Given the description of an element on the screen output the (x, y) to click on. 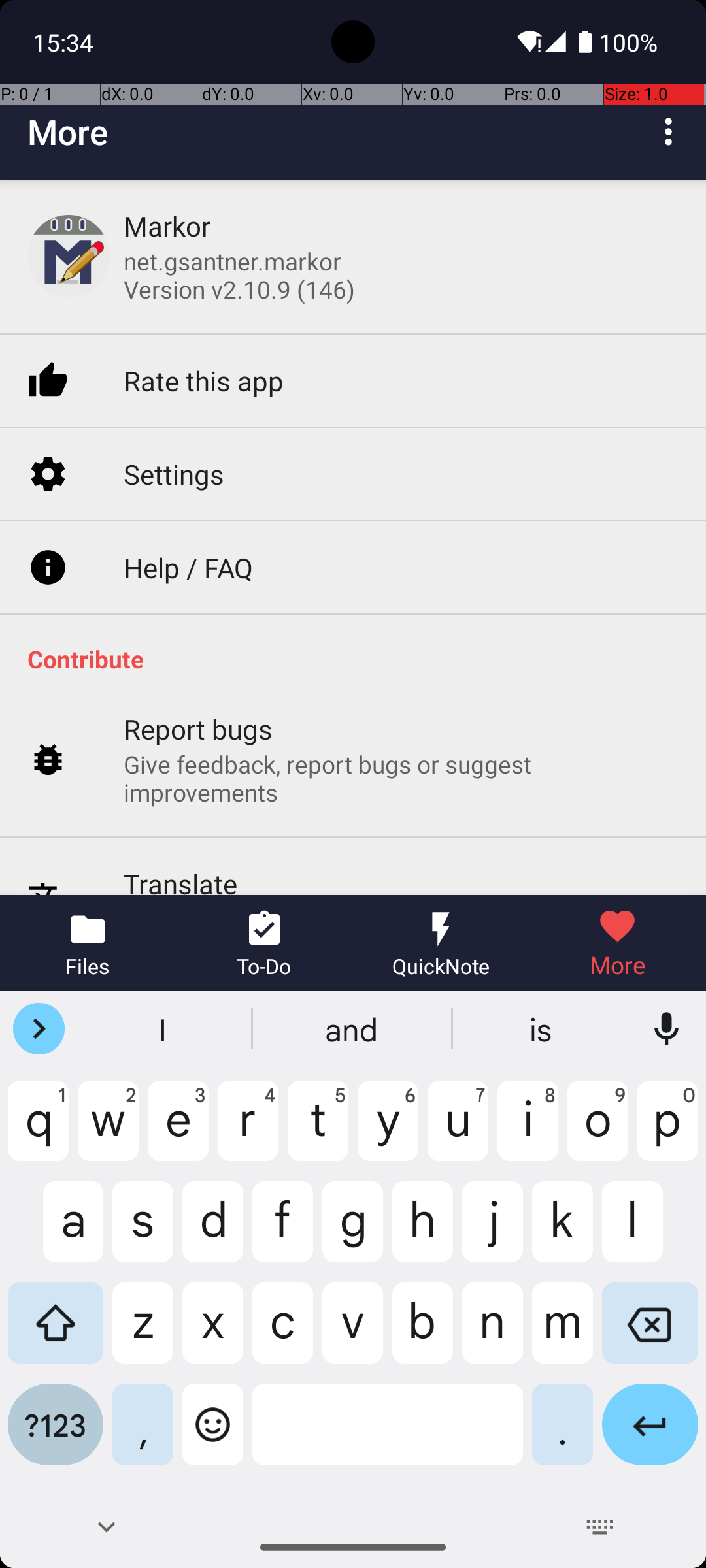
and Element type: android.widget.FrameLayout (352, 1028)
is Element type: android.widget.FrameLayout (541, 1028)
